Given the description of an element on the screen output the (x, y) to click on. 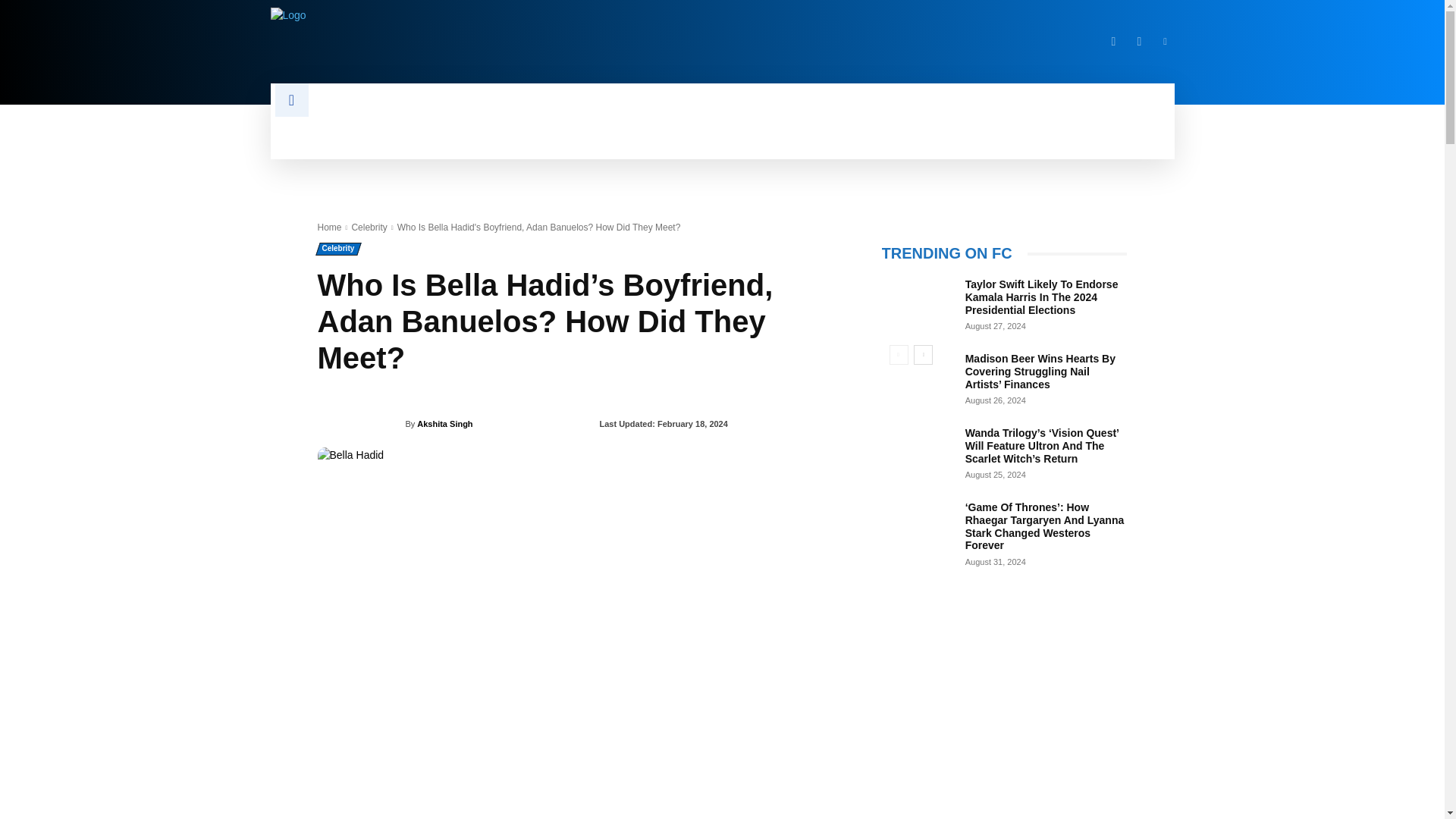
Facebook (1112, 41)
Twitter (1138, 41)
Home (328, 226)
View all posts in Celebrity (368, 226)
Celebrity (368, 226)
Linkedin (1164, 41)
